Given the description of an element on the screen output the (x, y) to click on. 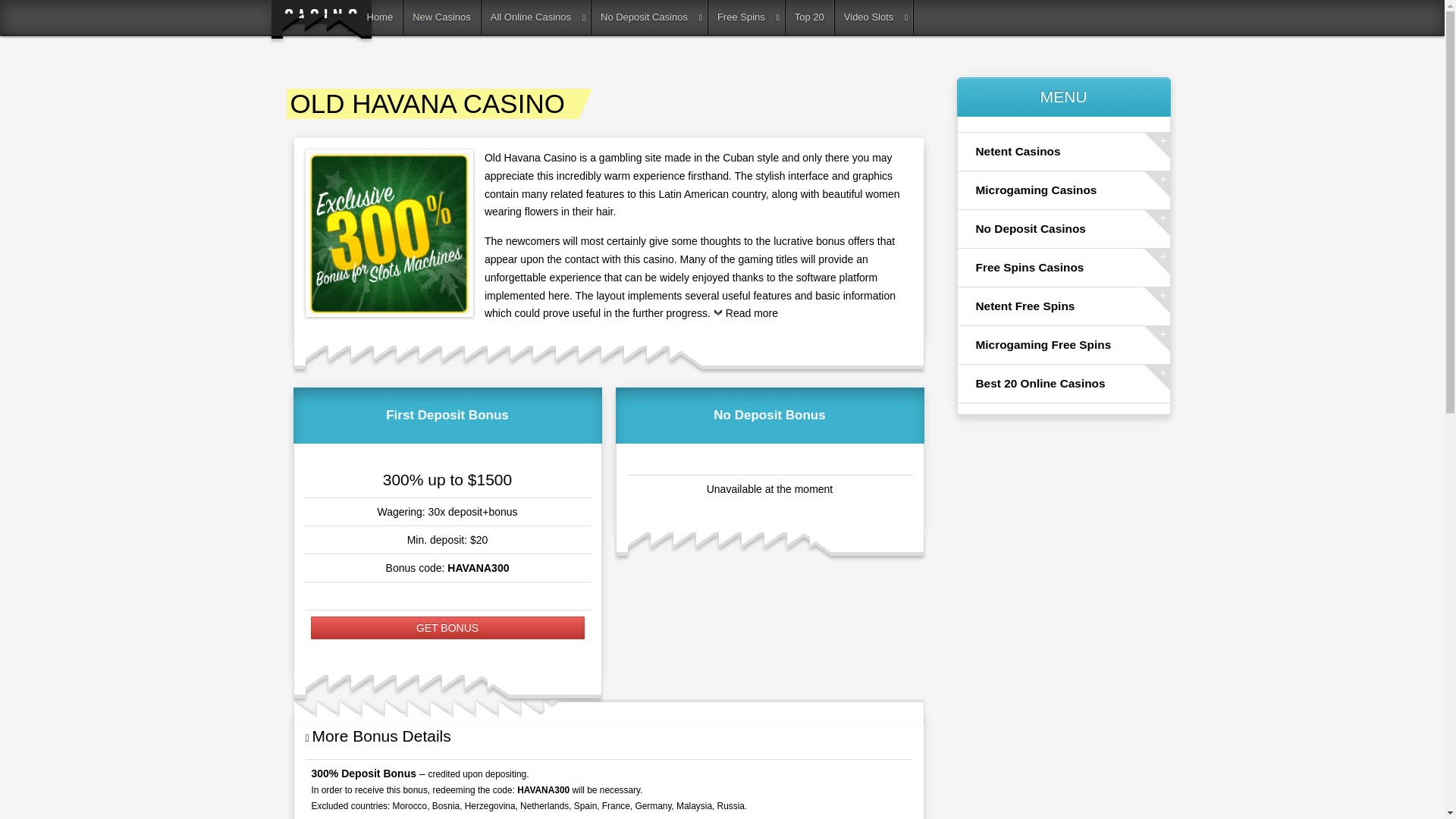
Free Spins (745, 17)
Best 20 Online Casinos (1063, 383)
Microgaming Free Spins (1063, 344)
Video Slots (874, 17)
Netent Free Spins (1063, 306)
Top 20 (810, 17)
Microgaming Casinos (1063, 190)
All Online Casinos (536, 17)
Home (380, 17)
Free Spins Casinos (1063, 267)
Netent Casinos (1063, 151)
Read more (745, 316)
New Casinos (441, 17)
GET BONUS (448, 627)
No Deposit Casinos (649, 17)
